Given the description of an element on the screen output the (x, y) to click on. 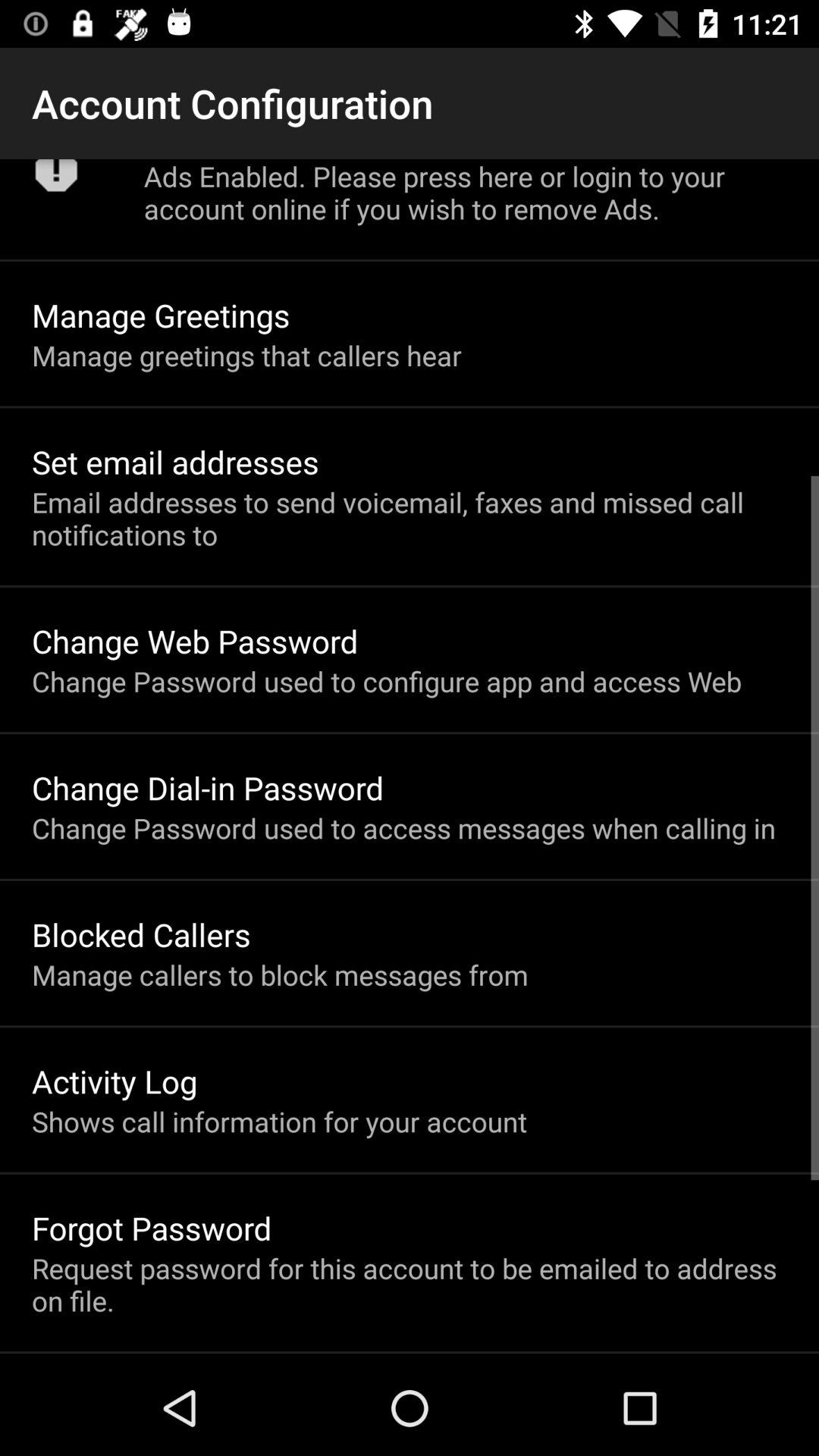
launch the app above manage greetings icon (465, 193)
